Given the description of an element on the screen output the (x, y) to click on. 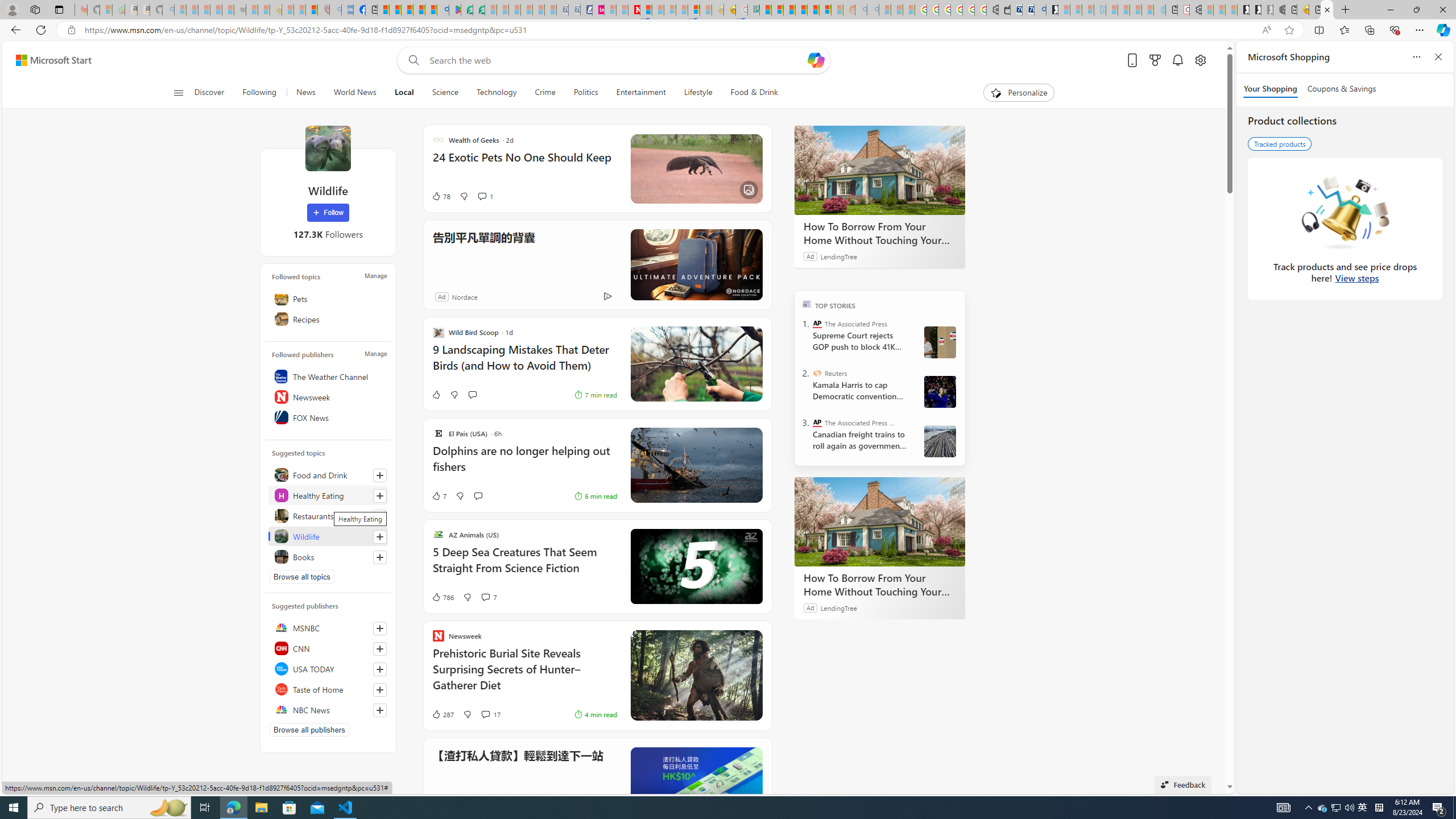
Reuters (816, 372)
CNN (327, 647)
Browse all topics (301, 576)
Healthy Eating (327, 495)
Home | Sky Blue Bikes - Sky Blue Bikes - Sleeping (1159, 9)
Terms of Use Agreement (466, 9)
Pets (327, 298)
